Given the description of an element on the screen output the (x, y) to click on. 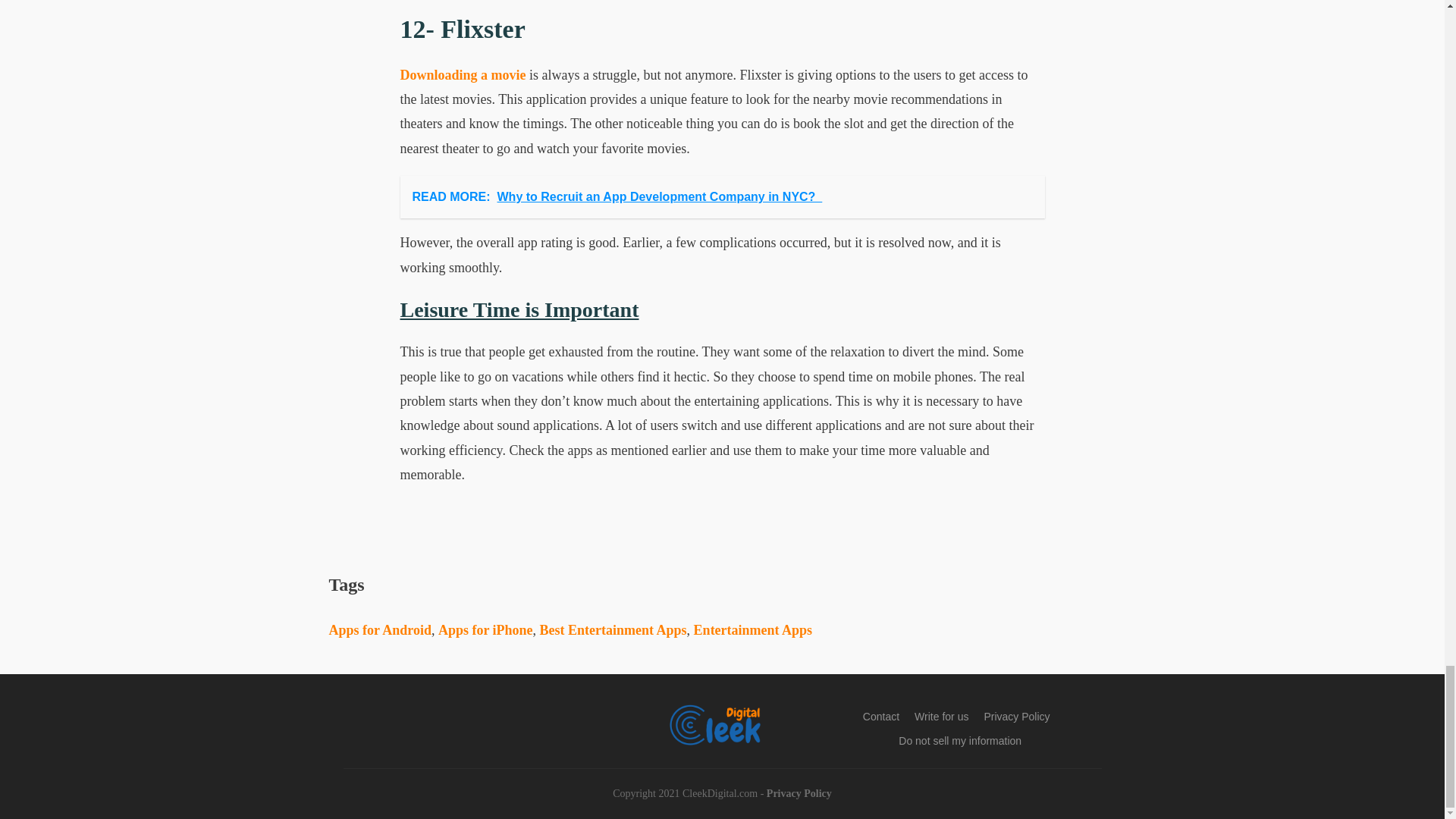
Apps for iPhone (485, 630)
Apps for Android (379, 630)
Entertainment Apps (753, 630)
Best Entertainment Apps (613, 630)
